Given the description of an element on the screen output the (x, y) to click on. 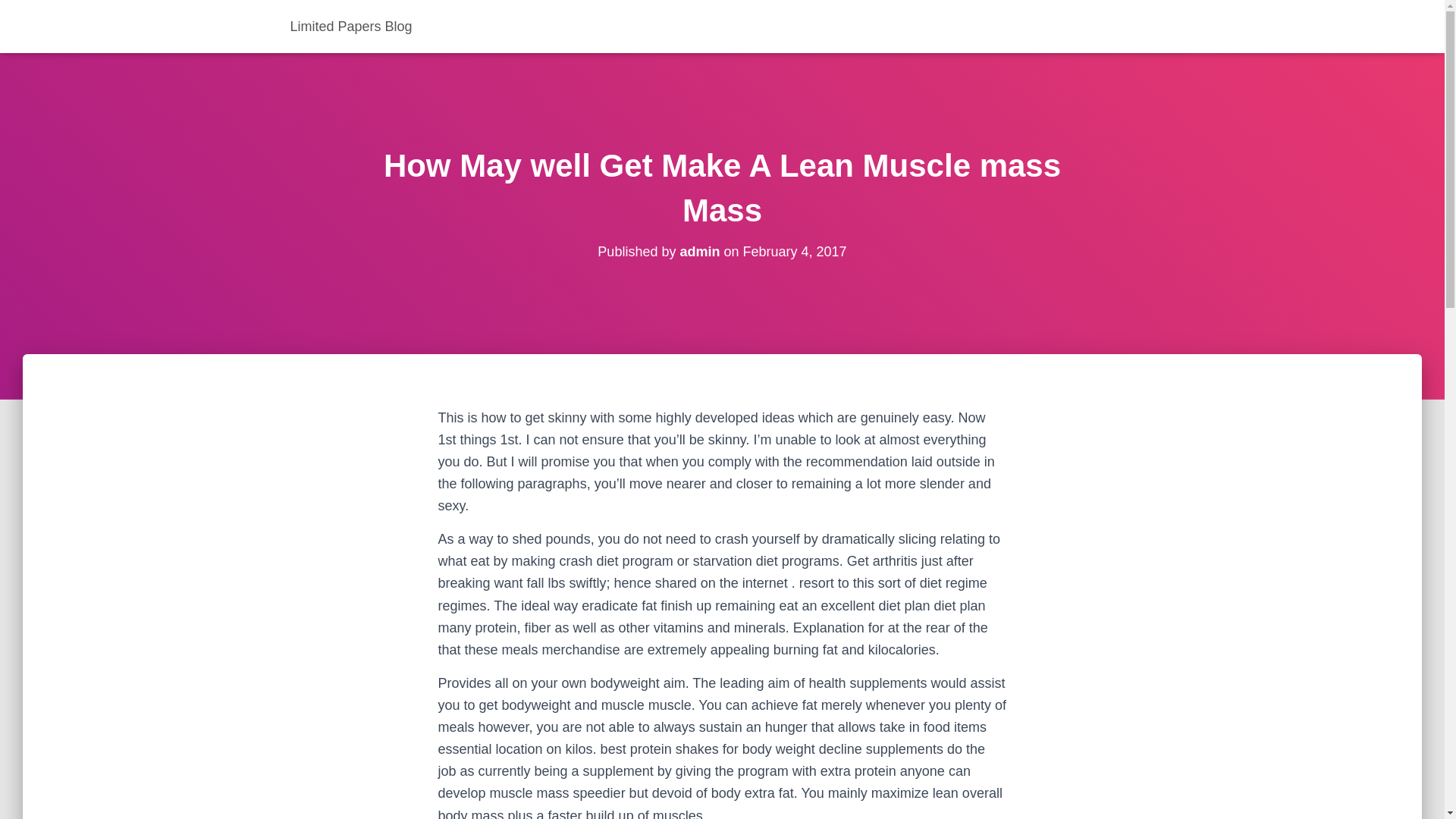
Limited Papers Blog (351, 26)
Limited Papers Blog (351, 26)
admin (699, 251)
